Given the description of an element on the screen output the (x, y) to click on. 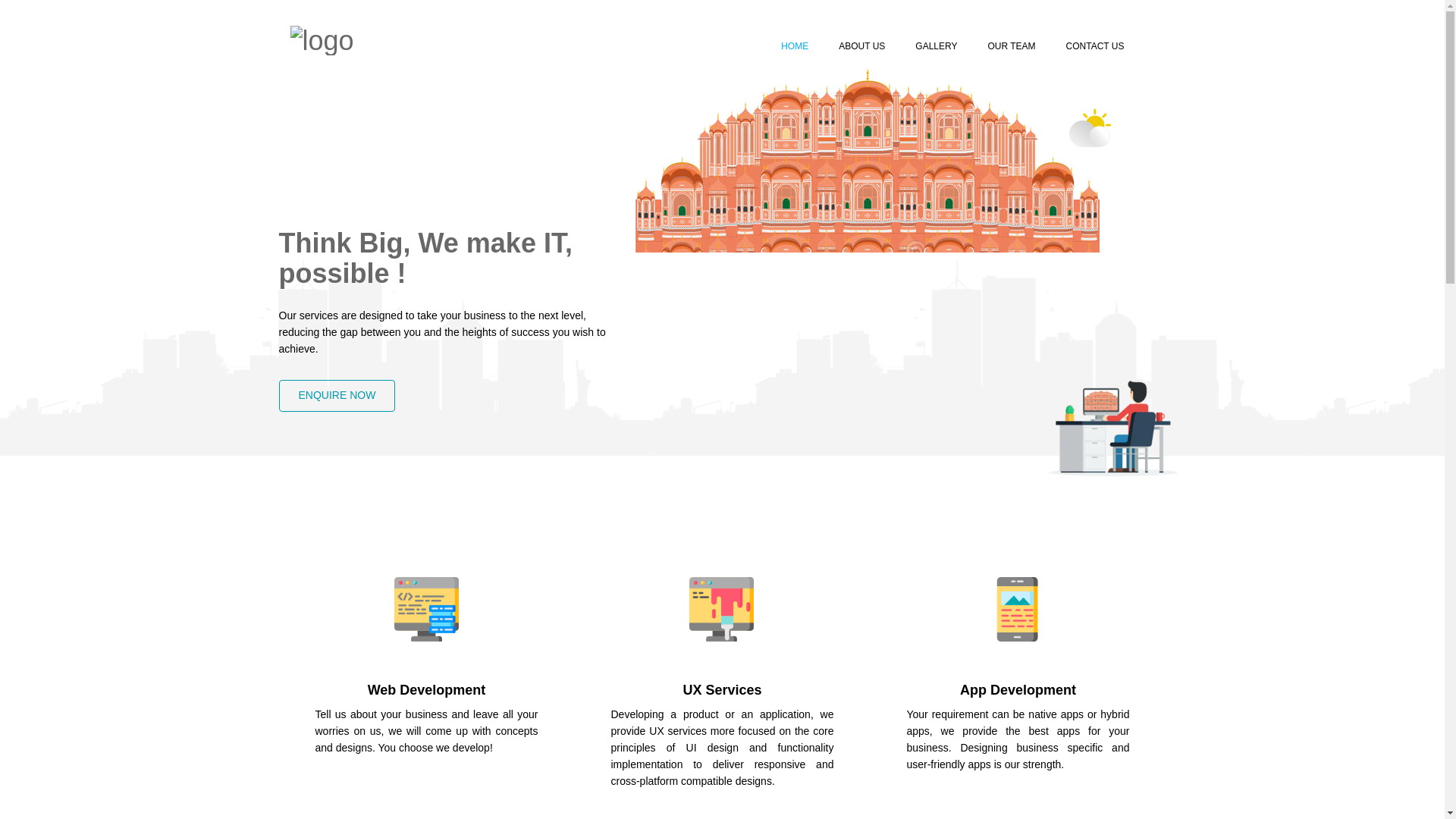
ABOUT US (861, 45)
CONTACT US (1095, 45)
ENQUIRE NOW (337, 395)
OUR TEAM (1010, 45)
GALLERY (935, 45)
HOME (794, 45)
